Given the description of an element on the screen output the (x, y) to click on. 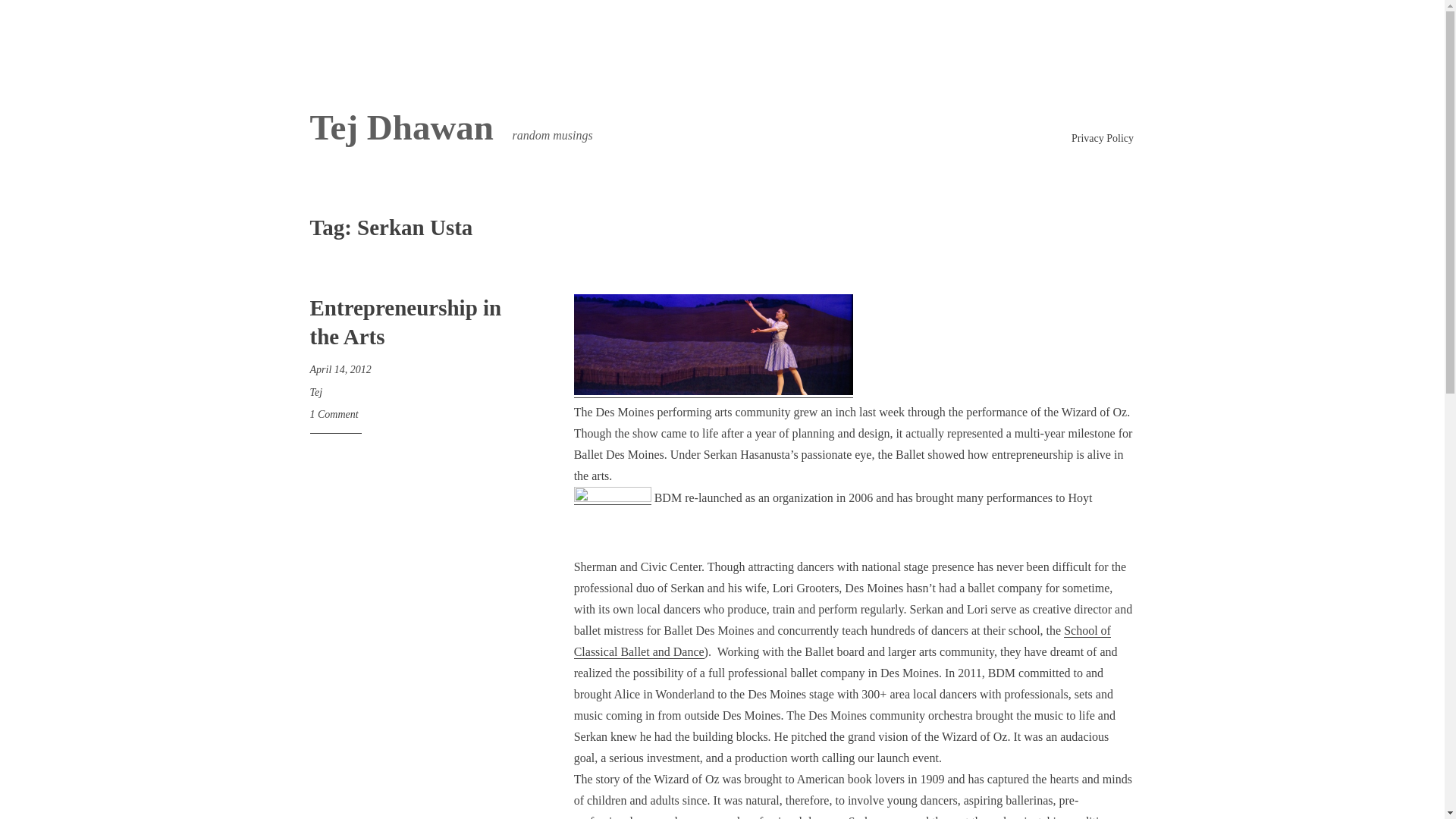
School of Classical Ballet and Dance (841, 641)
Privacy Policy (1102, 138)
1 Comment (333, 414)
Entrepreneurship in the Arts (404, 321)
Tej Dhawan (400, 127)
IMGP3667 (713, 344)
Tej (314, 392)
April 14, 2012 (339, 369)
